Given the description of an element on the screen output the (x, y) to click on. 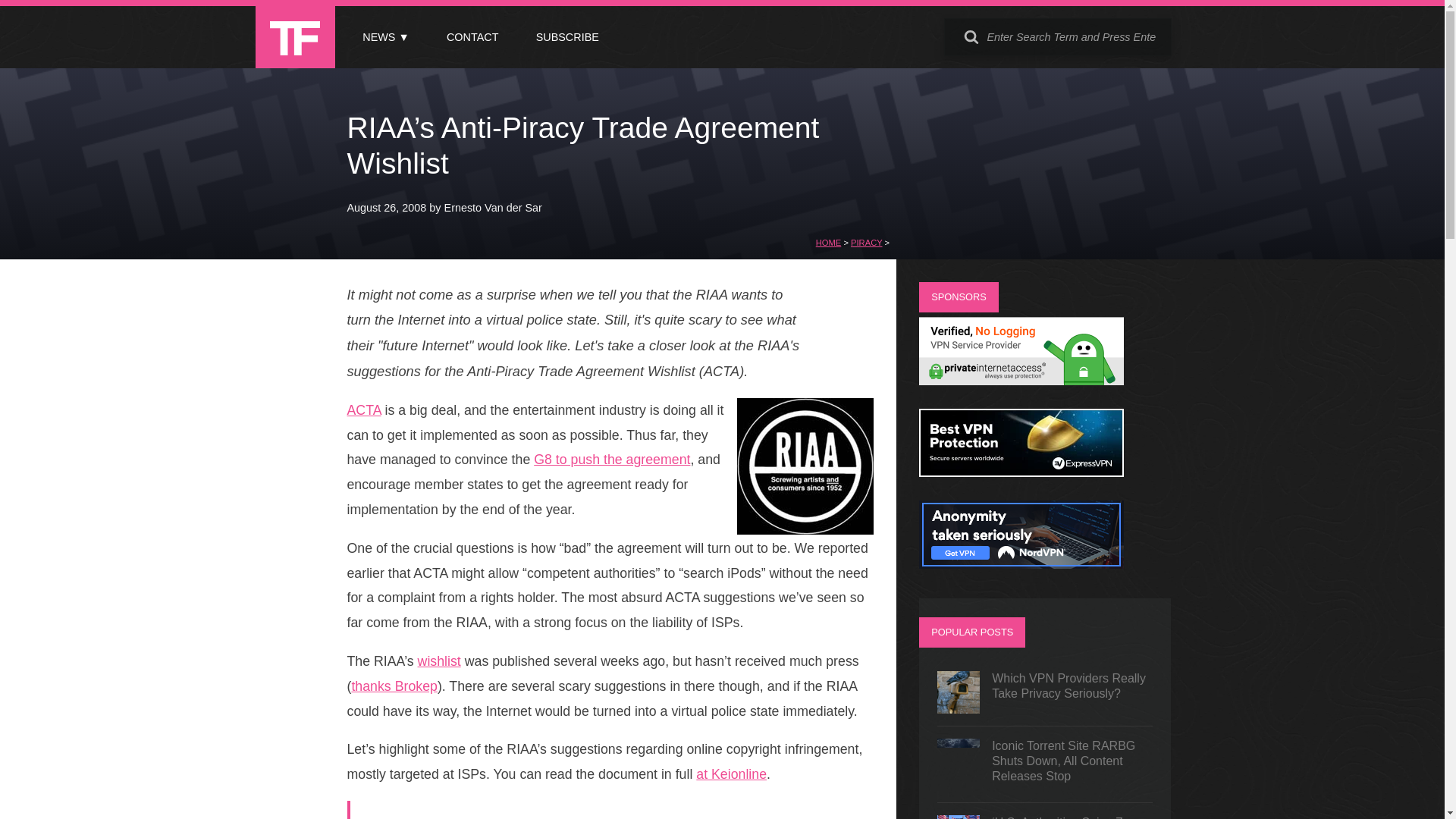
CONTACT (471, 37)
Ernesto Van der Sar (492, 207)
at Keionline (731, 774)
Go to TorrentFreak. (828, 242)
wishlist (439, 661)
HOME (828, 242)
G8 to push the agreement (612, 459)
Which VPN Providers Really Take Privacy Seriously? (1045, 691)
Go to the Piracy category archives. (866, 242)
PIRACY (866, 242)
Private Internet Access (1021, 380)
SUBSCRIBE (566, 37)
ExpressVPN (1021, 472)
ACTA (364, 409)
